Given the description of an element on the screen output the (x, y) to click on. 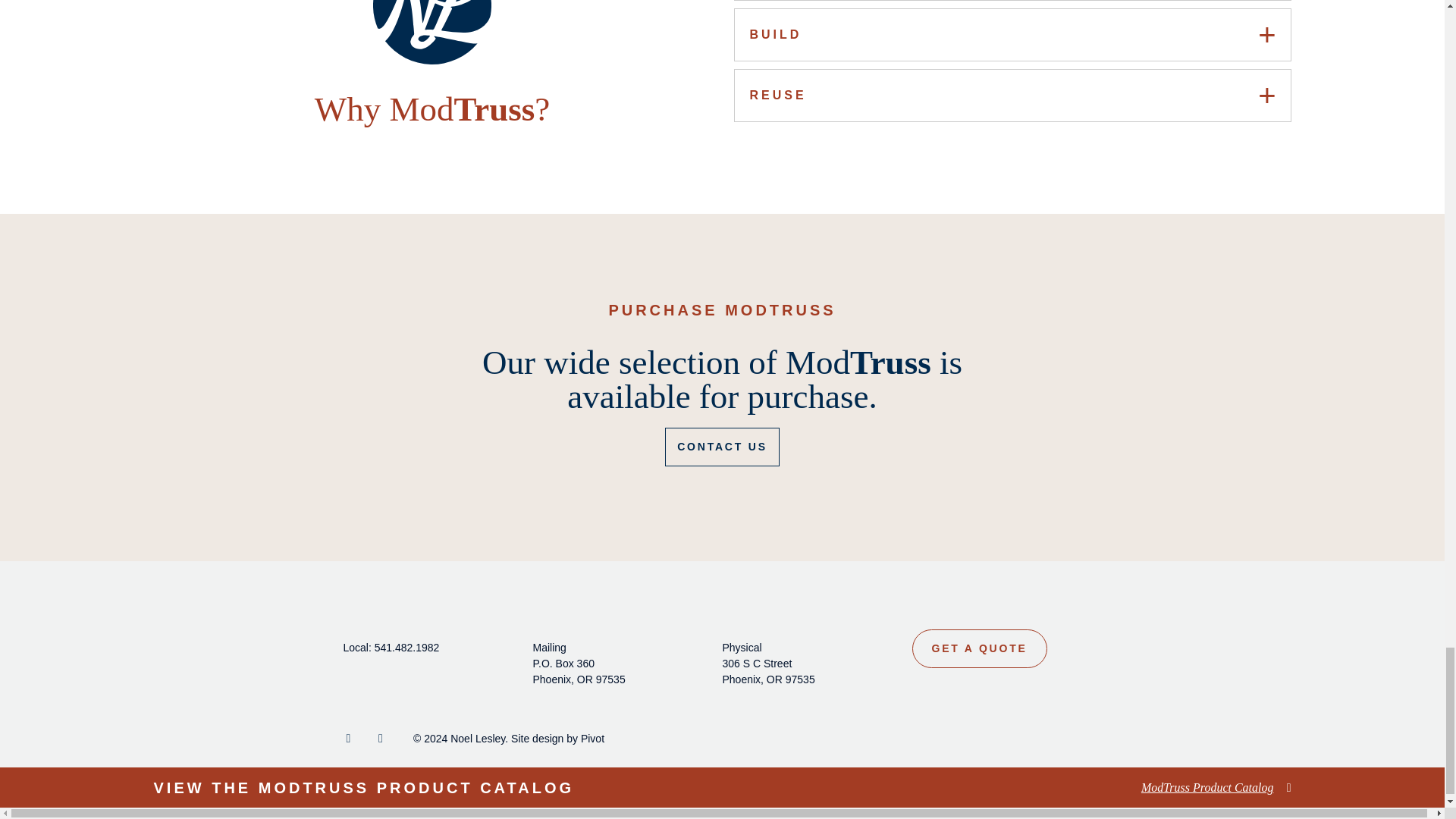
REUSE (1011, 95)
BUILD (1011, 34)
GET A QUOTE (978, 648)
CONTACT US (721, 446)
Pivot (592, 738)
Contact Us (721, 446)
